Given the description of an element on the screen output the (x, y) to click on. 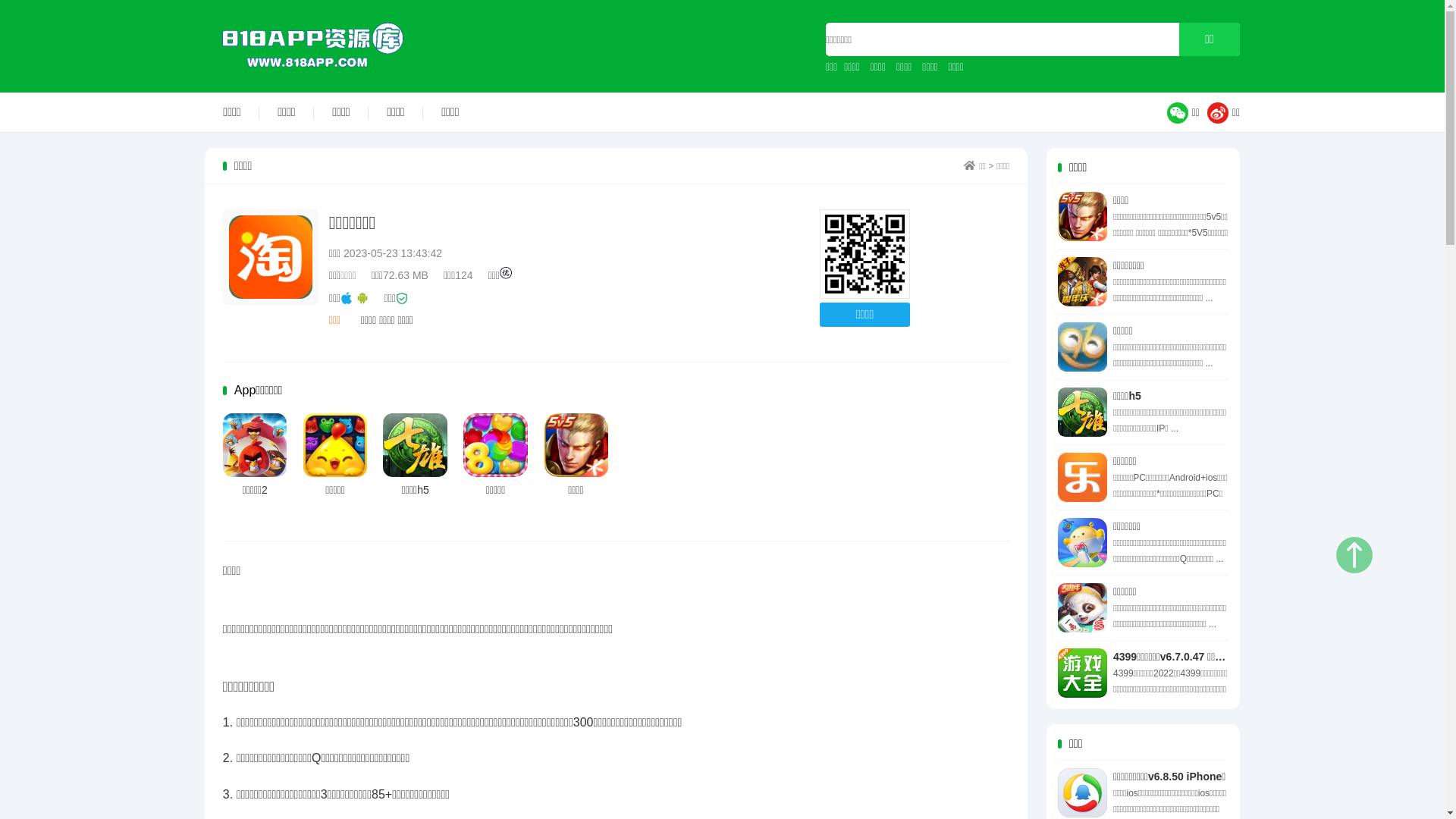
http://www.818app.com Element type: hover (864, 254)
